Given the description of an element on the screen output the (x, y) to click on. 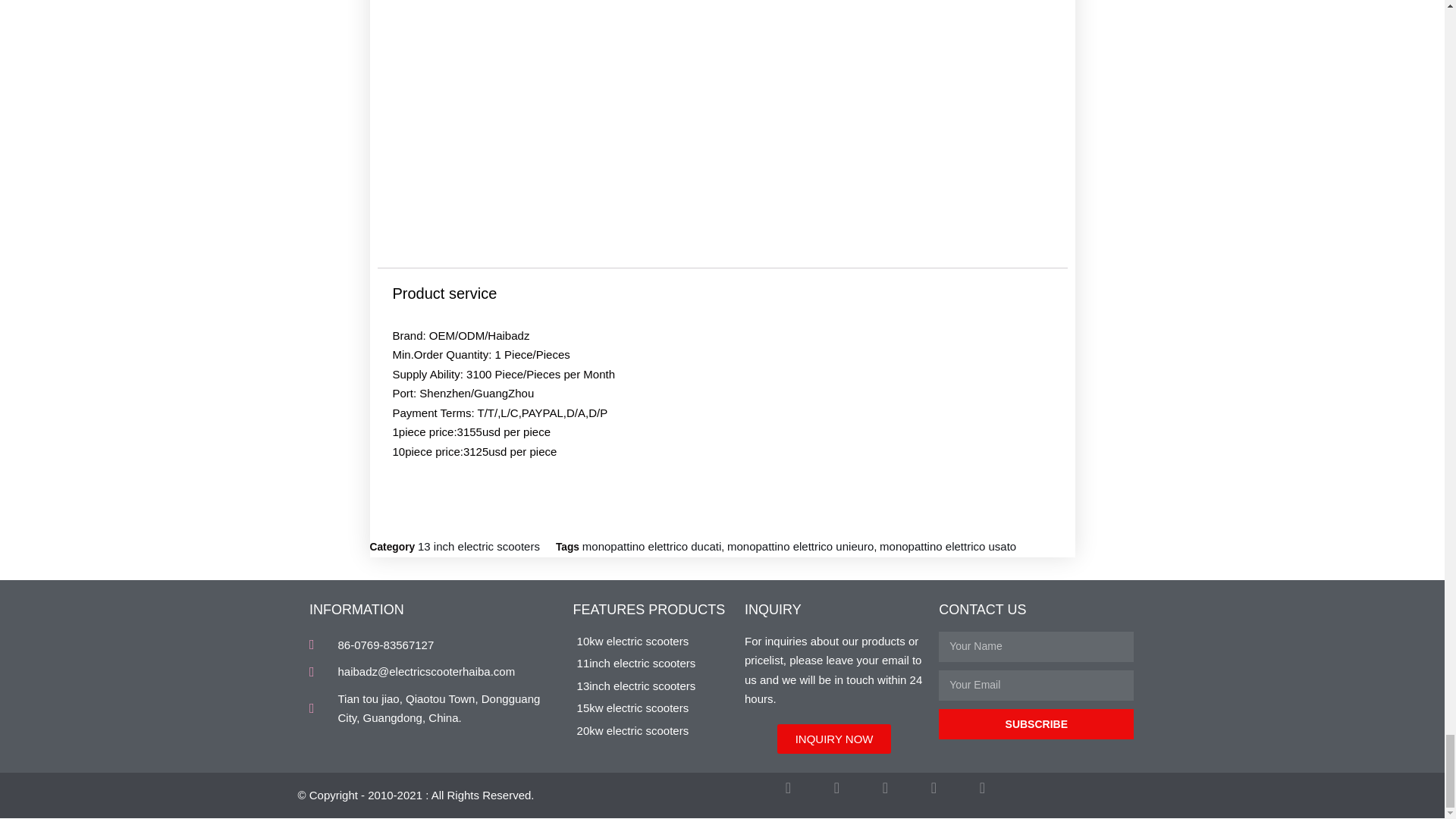
monopattino elettrico unieuro (799, 545)
monopattino elettrico usato (947, 545)
SUBSCRIBE (1036, 724)
monopattino elettrico ducati (651, 545)
13 inch electric scooters (478, 545)
INQUIRY NOW (834, 738)
